Given the description of an element on the screen output the (x, y) to click on. 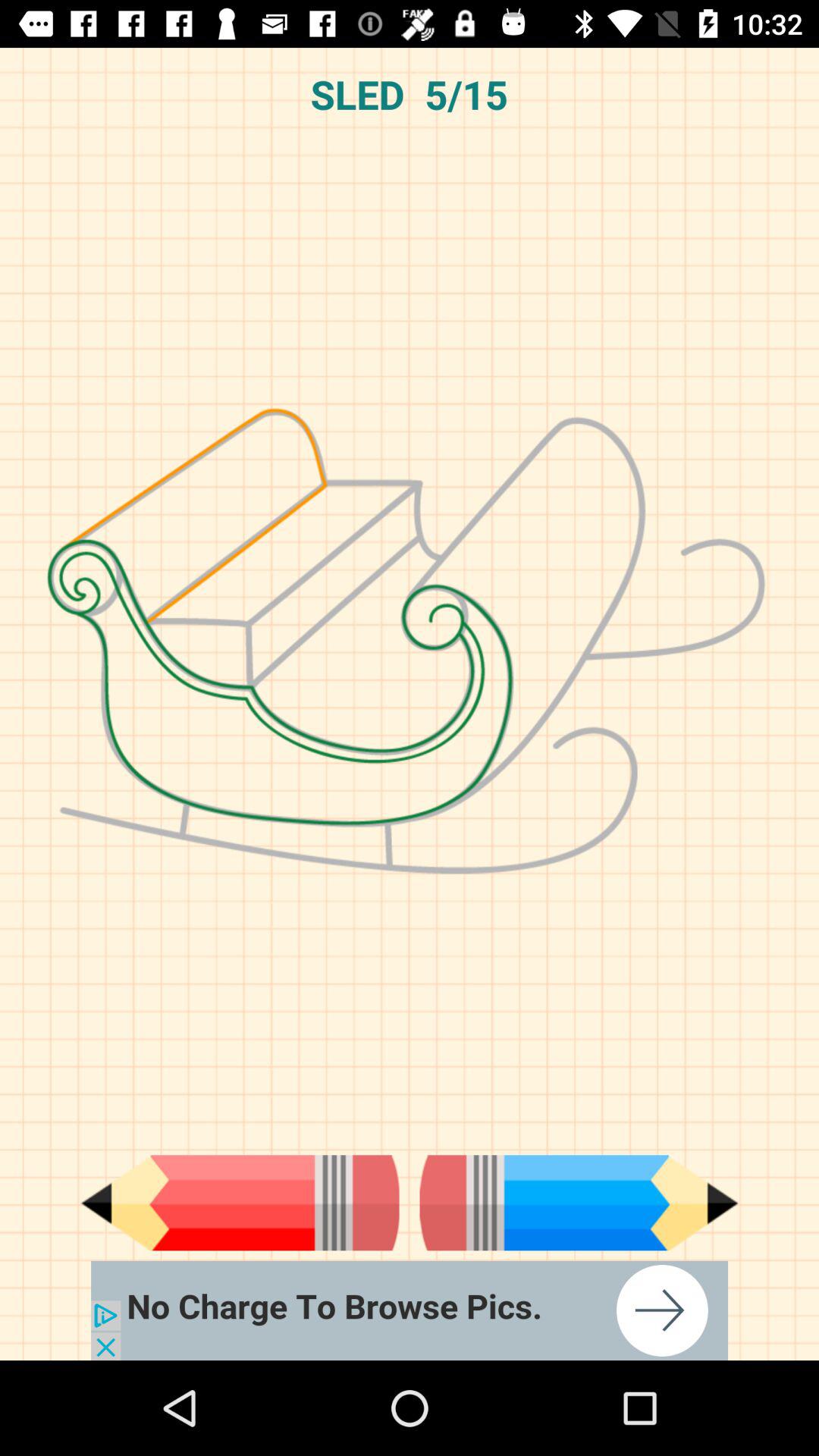
go to next (578, 1202)
